Given the description of an element on the screen output the (x, y) to click on. 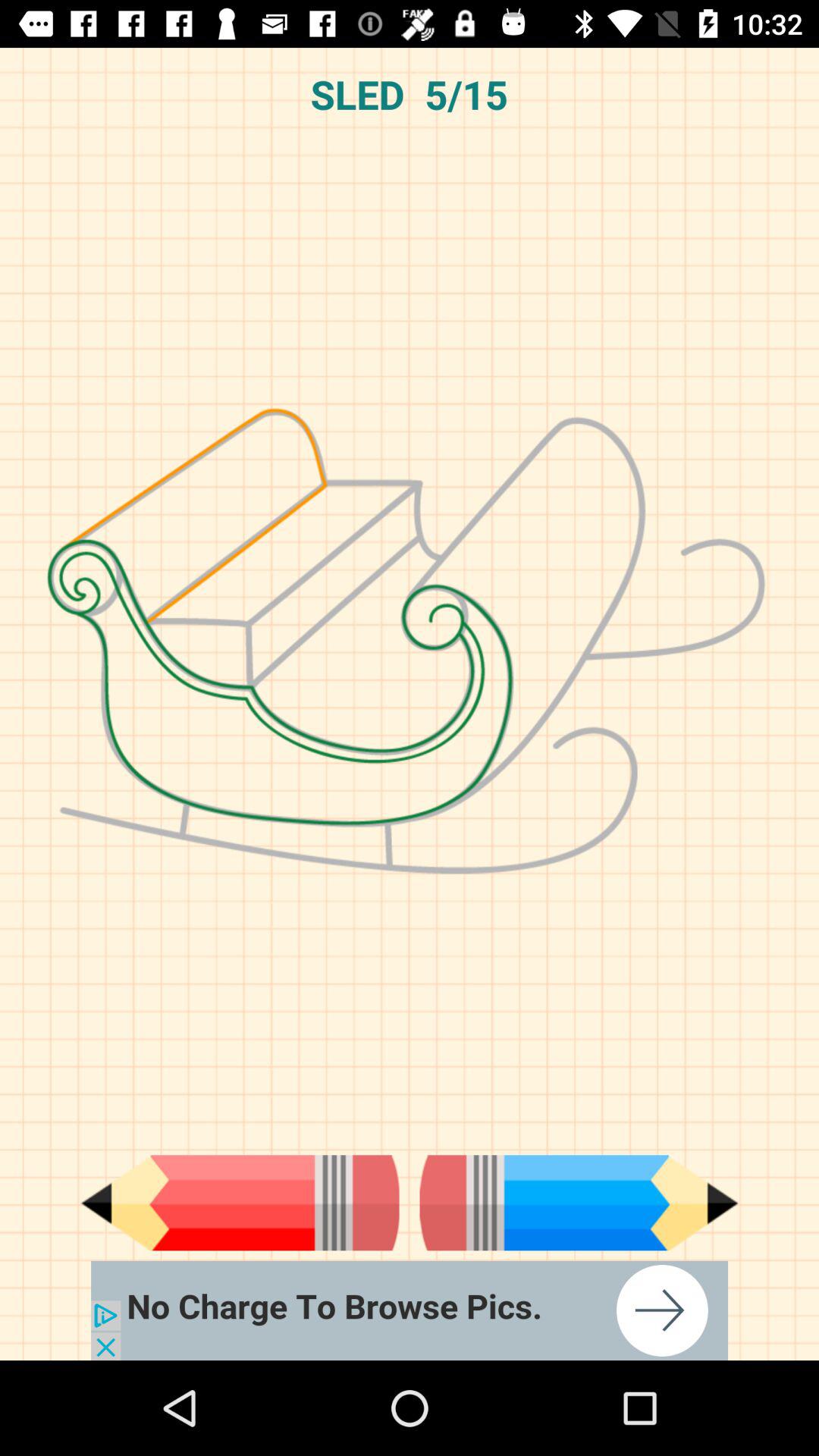
go to next (578, 1202)
